Given the description of an element on the screen output the (x, y) to click on. 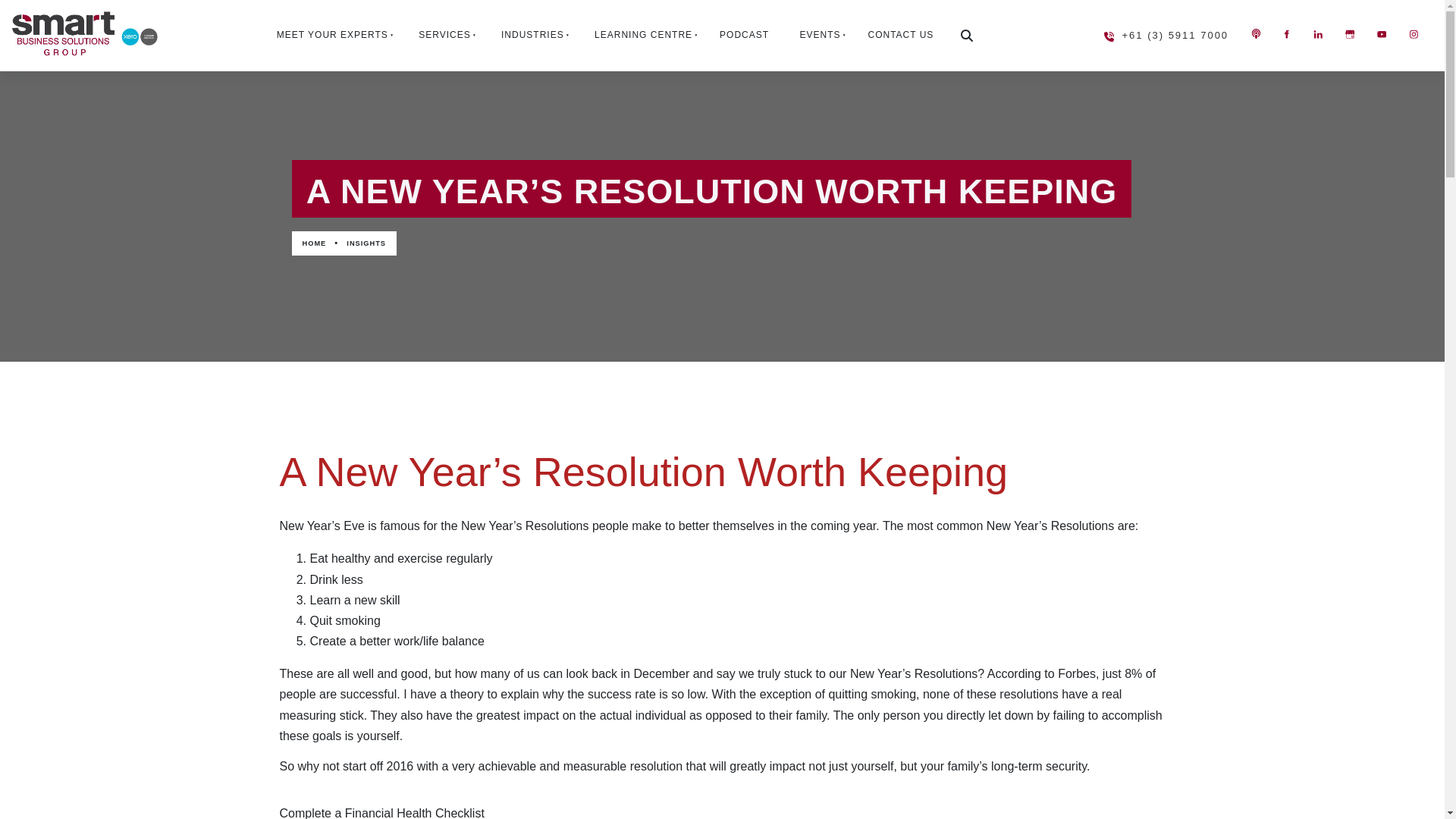
SERVICES (442, 34)
LEARNING CENTRE (642, 34)
Google My Business (1350, 34)
Instagram (1412, 34)
INDUSTRIES (531, 34)
Youtube (1381, 34)
MEET YOUR EXPERTS (330, 34)
LinkedIn (1318, 34)
Facebook (1286, 34)
